Given the description of an element on the screen output the (x, y) to click on. 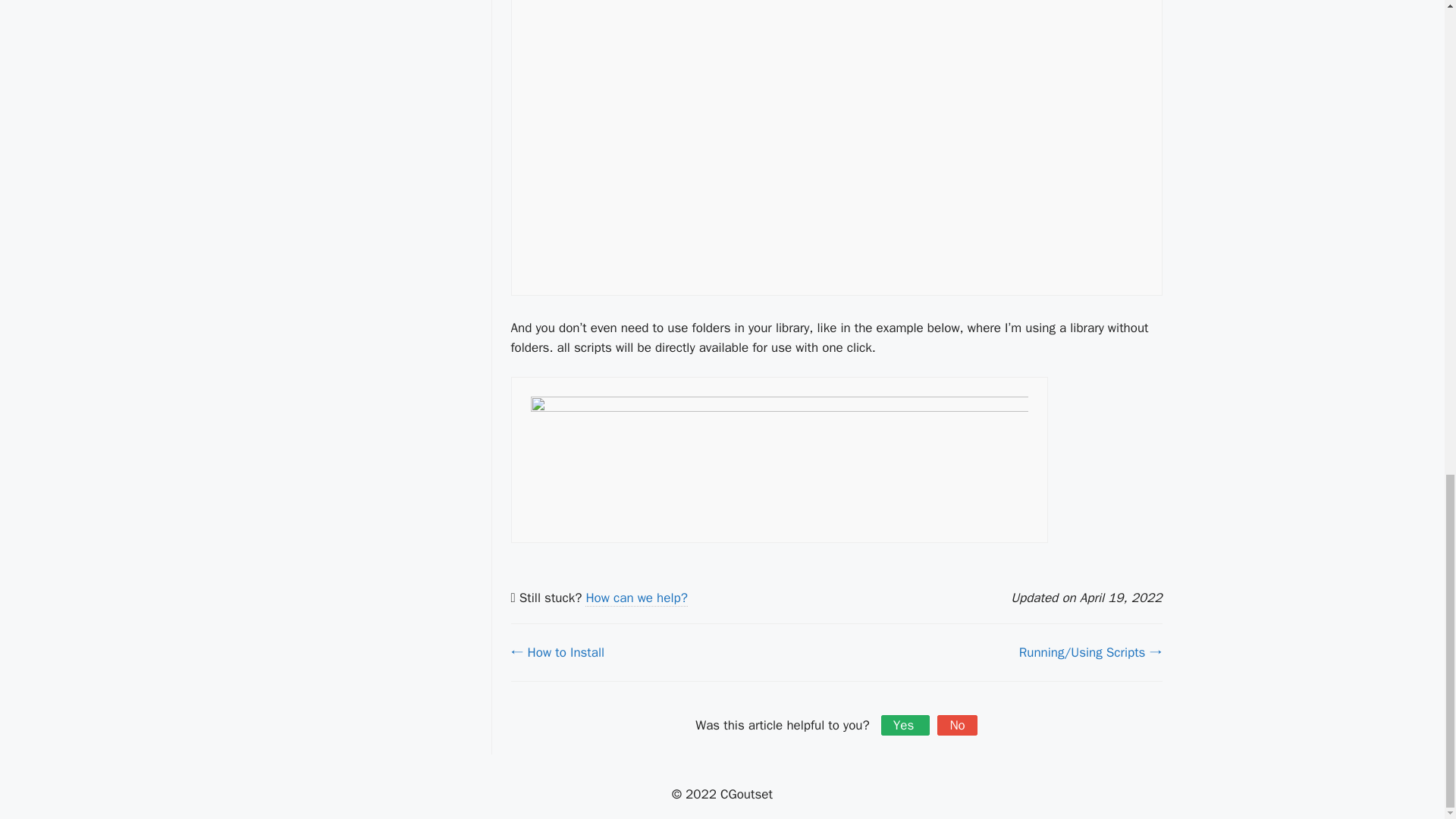
No (956, 724)
Yes (905, 724)
How can we help? (636, 597)
No votes yet (956, 724)
No votes yet (905, 724)
